Given the description of an element on the screen output the (x, y) to click on. 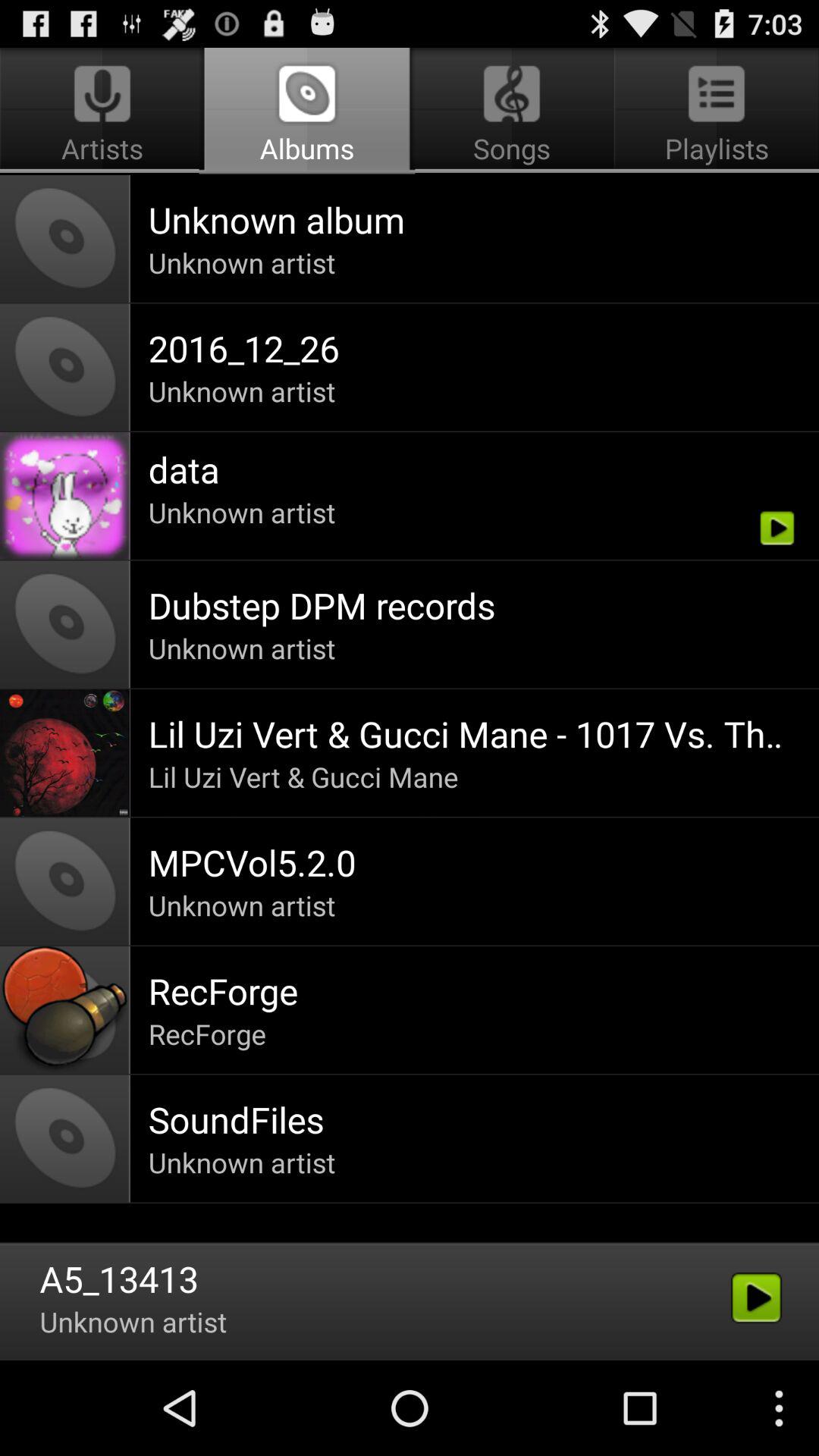
press icon to the left of playlists icon (307, 111)
